Given the description of an element on the screen output the (x, y) to click on. 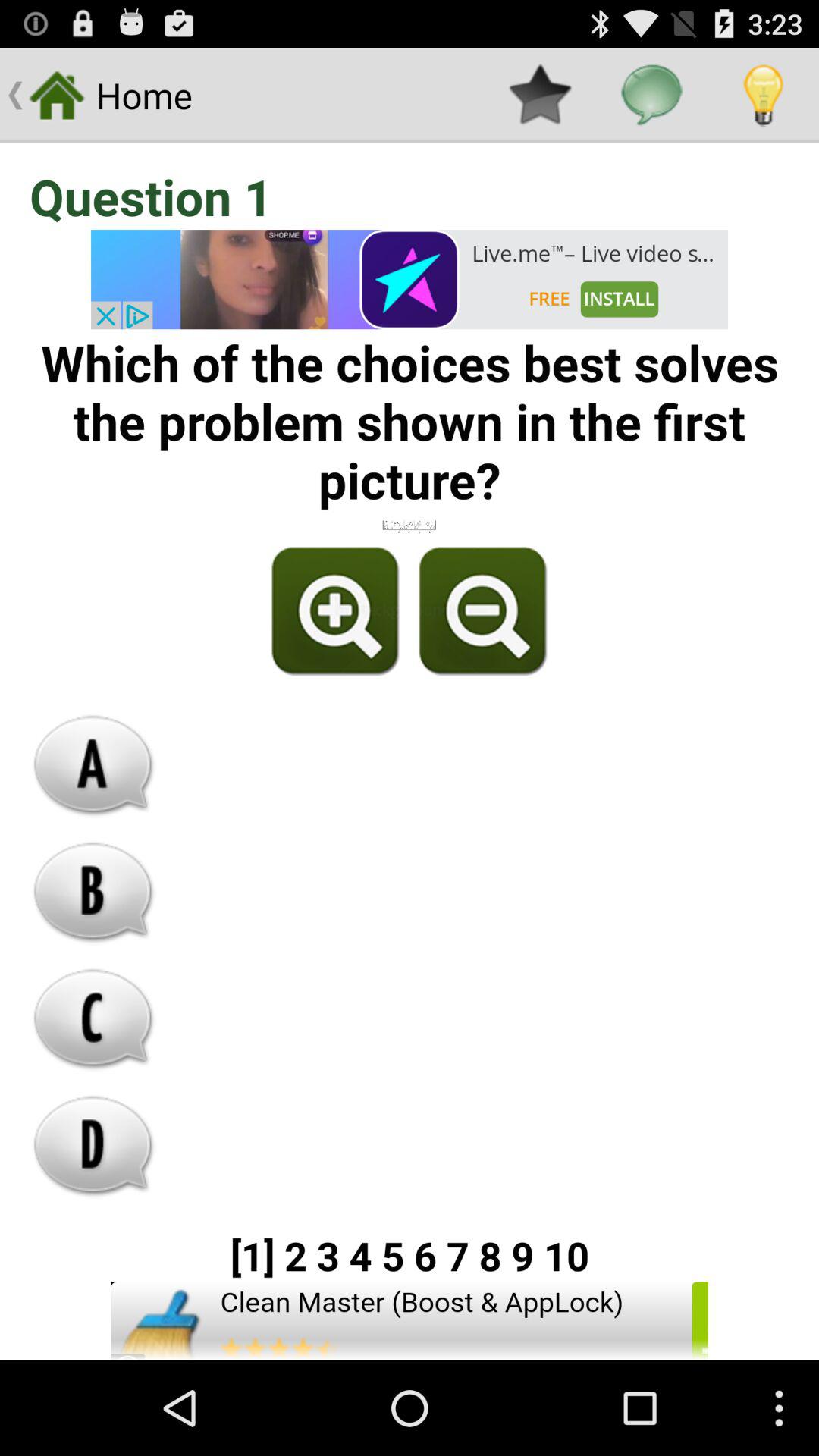
advertisement (409, 279)
